Given the description of an element on the screen output the (x, y) to click on. 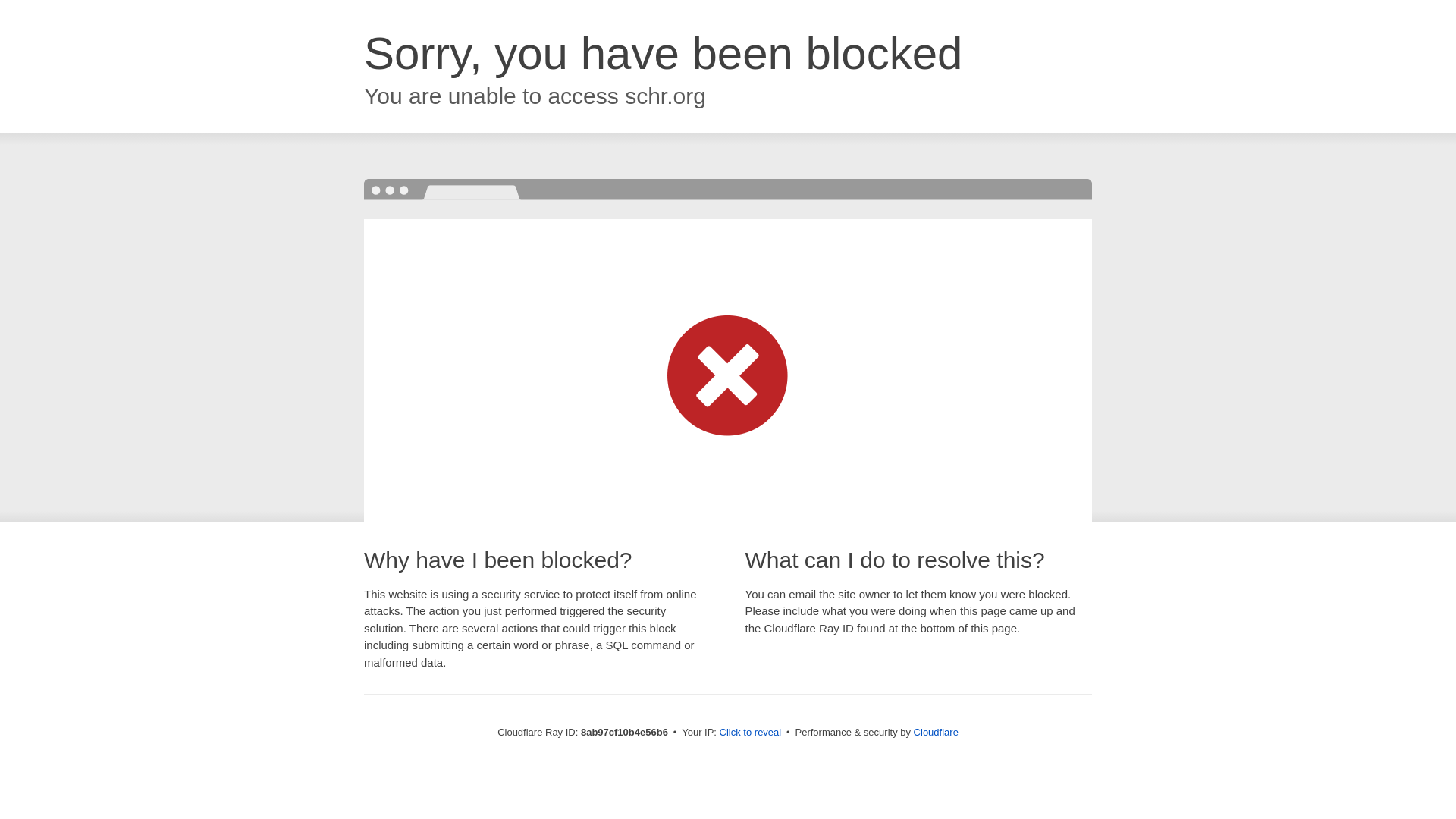
Cloudflare (936, 731)
Click to reveal (750, 732)
